Given the description of an element on the screen output the (x, y) to click on. 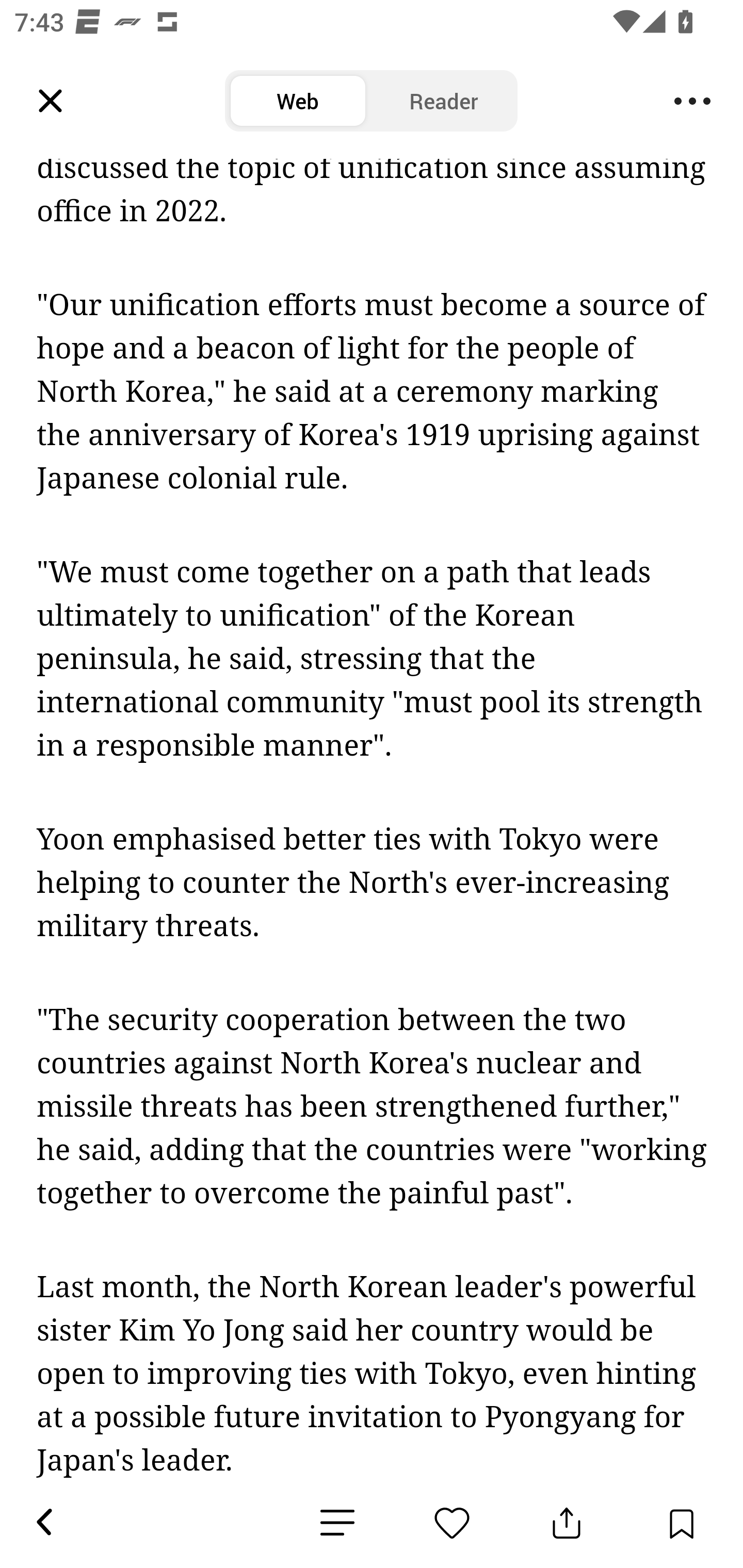
Leading Icon (50, 101)
Reader (443, 101)
Menu (692, 101)
Back Button (43, 1523)
News Detail Emotion (451, 1523)
Share Button (566, 1523)
Save Button (680, 1523)
News Detail Emotion (337, 1523)
